Given the description of an element on the screen output the (x, y) to click on. 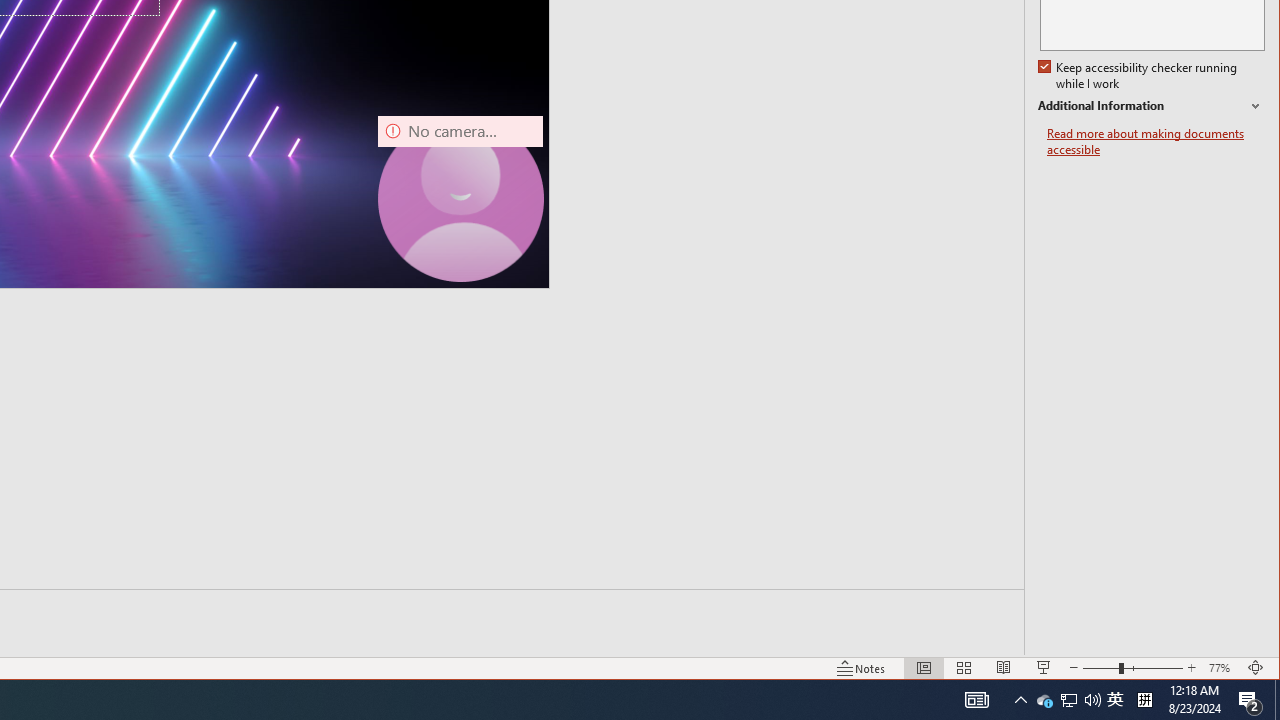
Q2790: 100% (1092, 699)
Notification Chevron (1020, 699)
AutomationID: 4105 (976, 699)
Action Center, 2 new notifications (1250, 699)
Read more about making documents accessible (1155, 142)
